Given the description of an element on the screen output the (x, y) to click on. 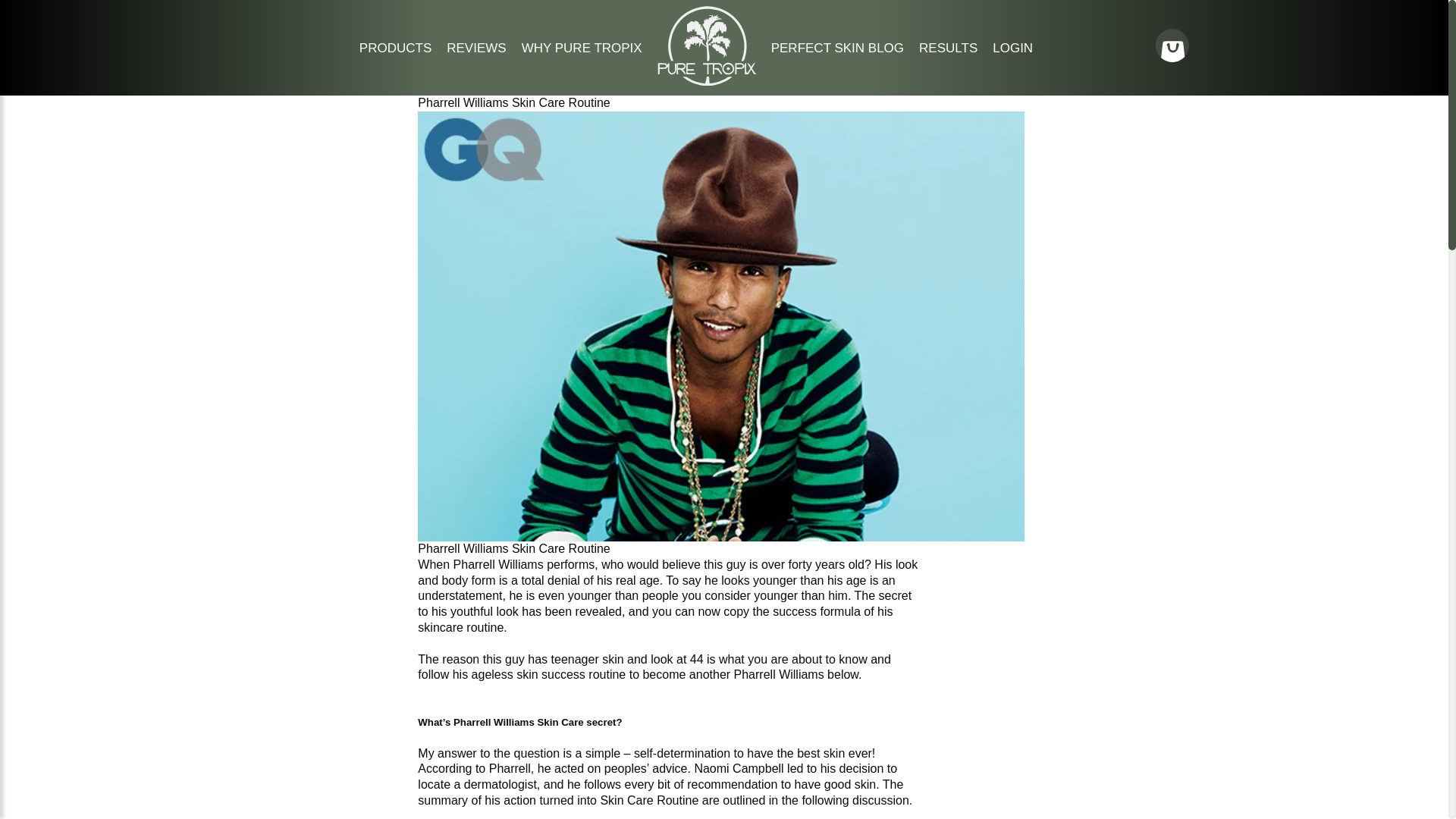
WHY PURE TROPIX (581, 47)
REVIEWS (475, 47)
LOGIN (1012, 47)
PERFECT SKIN BLOG (837, 47)
PRODUCTS (394, 47)
RESULTS (947, 47)
Pure Tropix (706, 81)
